Given the description of an element on the screen output the (x, y) to click on. 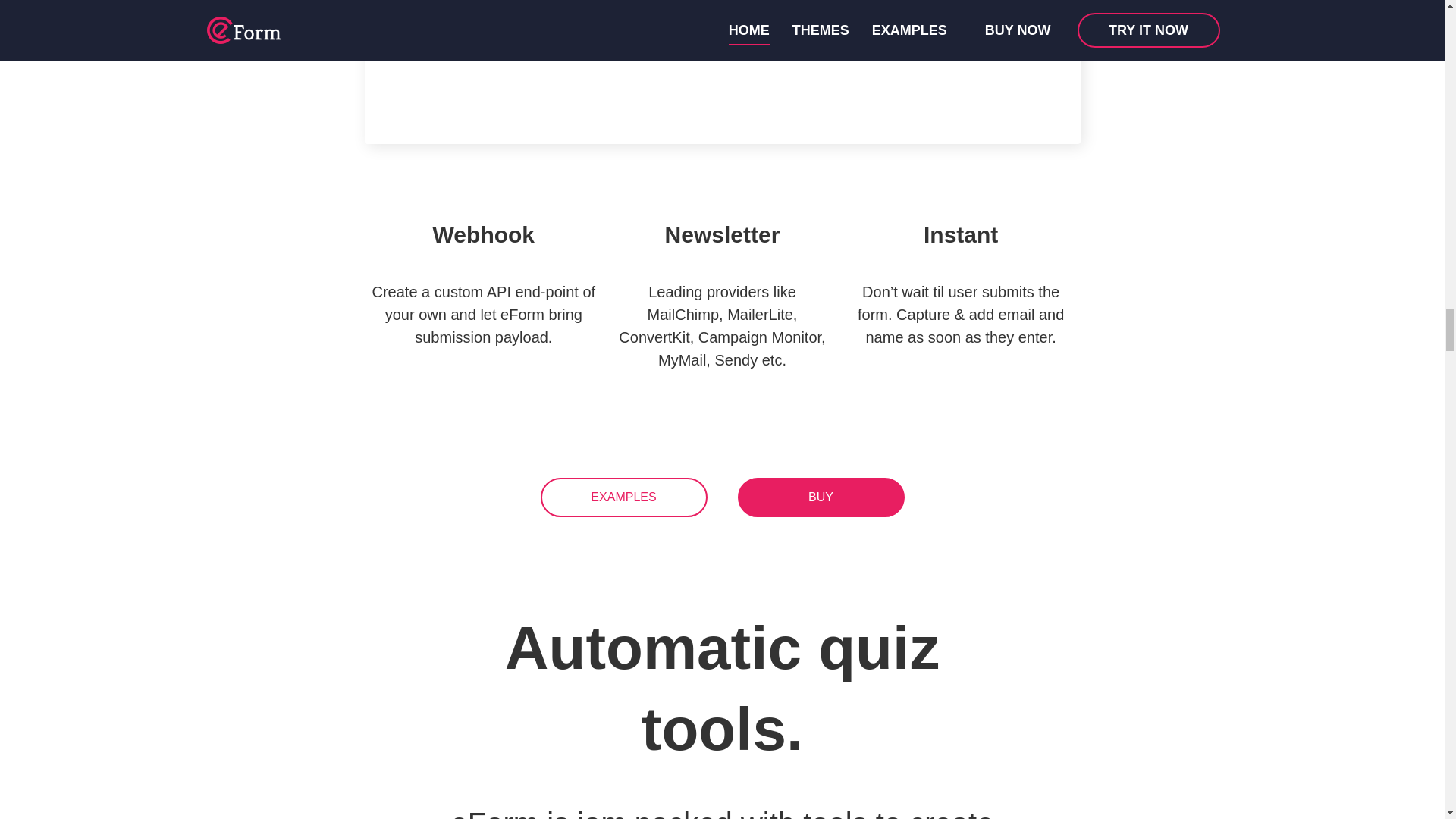
EXAMPLES (623, 496)
